Given the description of an element on the screen output the (x, y) to click on. 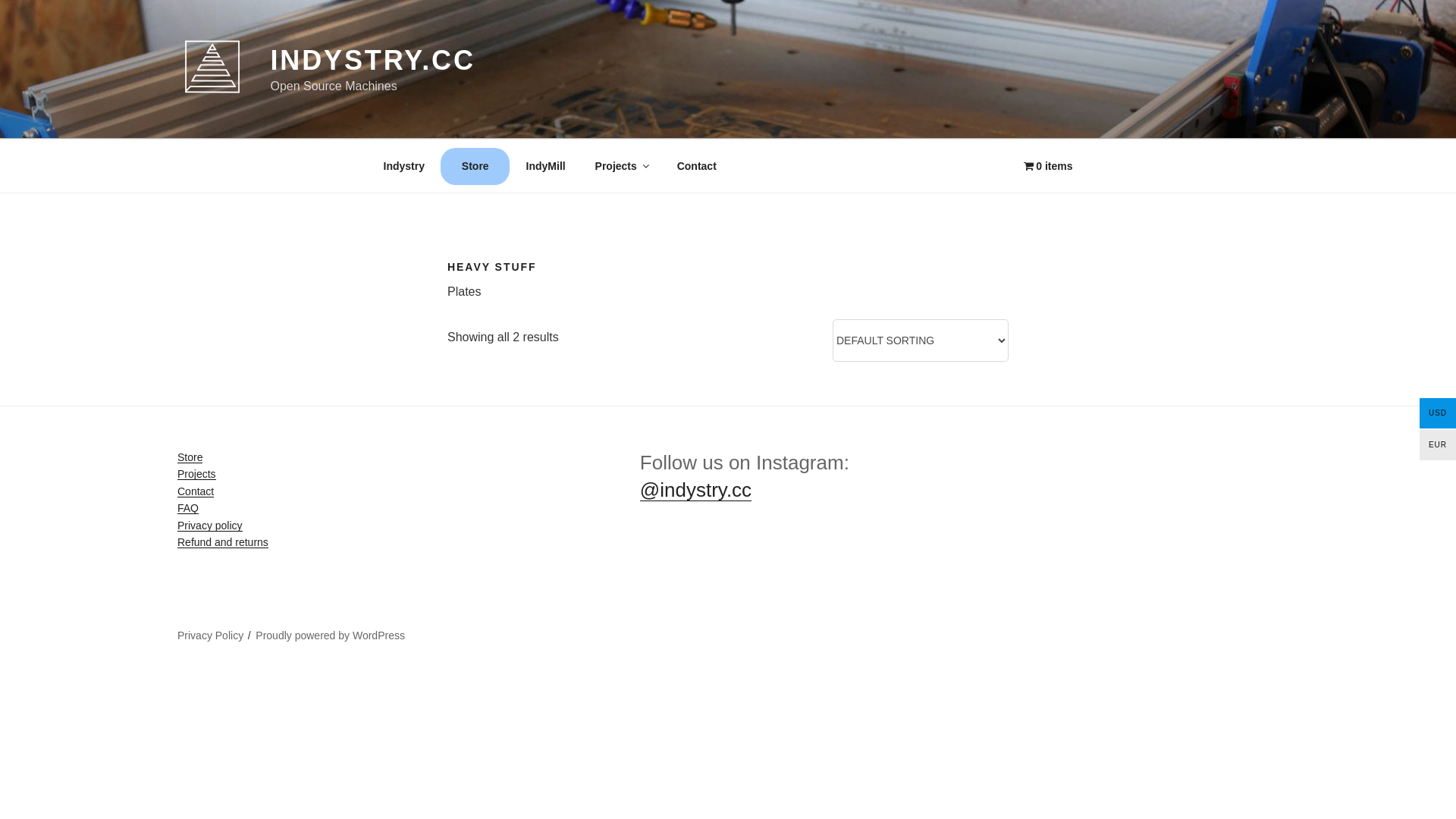
Contact Element type: text (195, 491)
Privacy Policy Element type: text (210, 635)
Privacy policy Element type: text (209, 525)
0 items Element type: text (1047, 165)
Projects Element type: text (196, 473)
Refund and returns Element type: text (222, 542)
FAQ Element type: text (187, 508)
@indystry.cc Element type: text (695, 489)
Store Element type: text (475, 165)
Proudly powered by WordPress Element type: text (329, 635)
INDYSTRY.CC Element type: text (371, 59)
Store Element type: text (189, 457)
Contact Element type: text (696, 165)
IndyMill Element type: text (545, 165)
Projects Element type: text (620, 165)
Indystry Element type: text (403, 165)
